Given the description of an element on the screen output the (x, y) to click on. 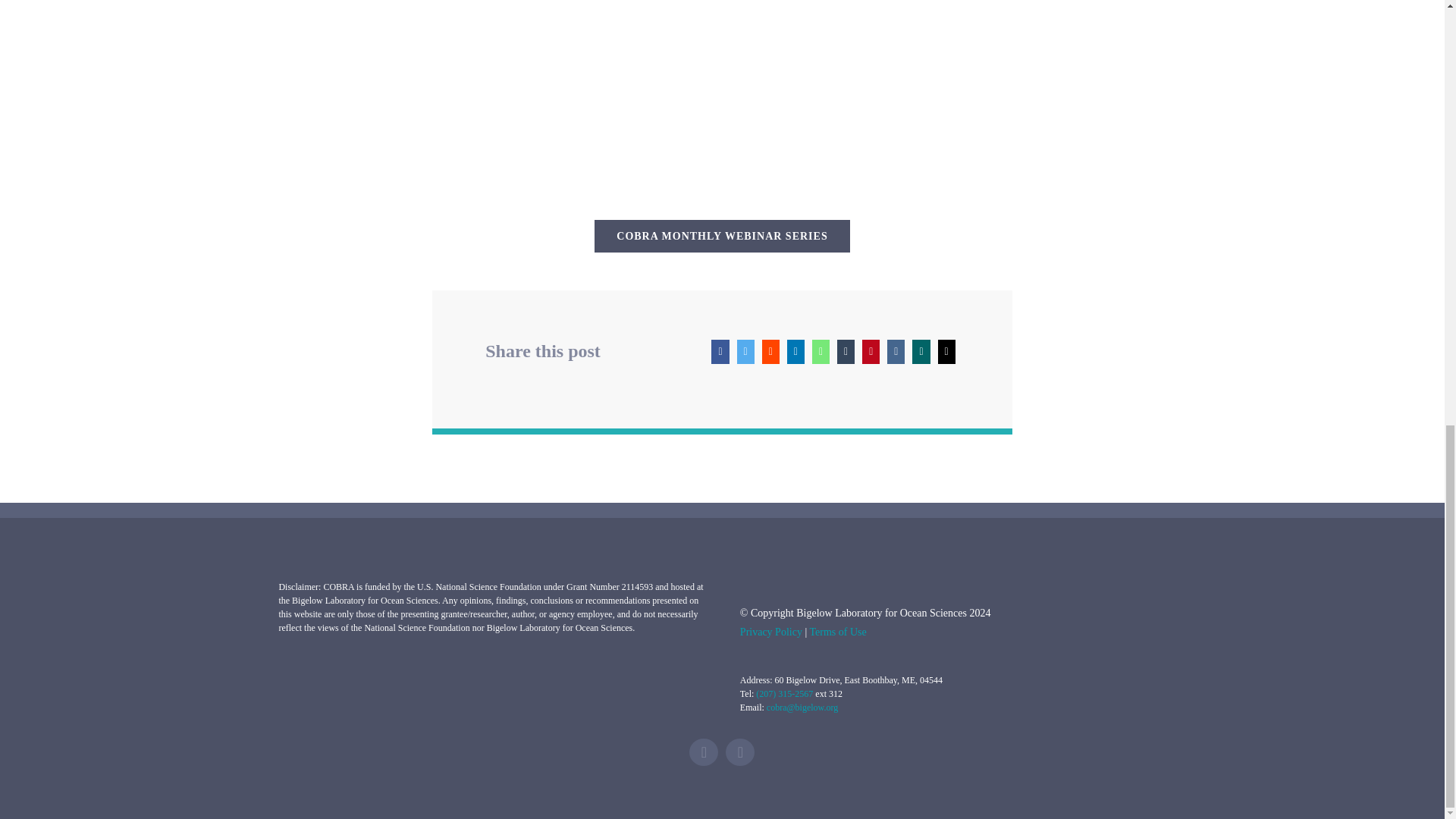
Facebook (719, 351)
Email (946, 351)
YouTube (739, 751)
COBRA MONTHLY WEBINAR SERIES (721, 236)
Twitter (745, 351)
Privacy Policy (770, 632)
Terms of Use (837, 632)
LinkedIn (795, 351)
Vk (895, 351)
WhatsApp (820, 351)
Pinterest (871, 351)
Reddit (770, 351)
Twitter (702, 751)
Bigelow-logo-White (853, 586)
Xing (920, 351)
